Given the description of an element on the screen output the (x, y) to click on. 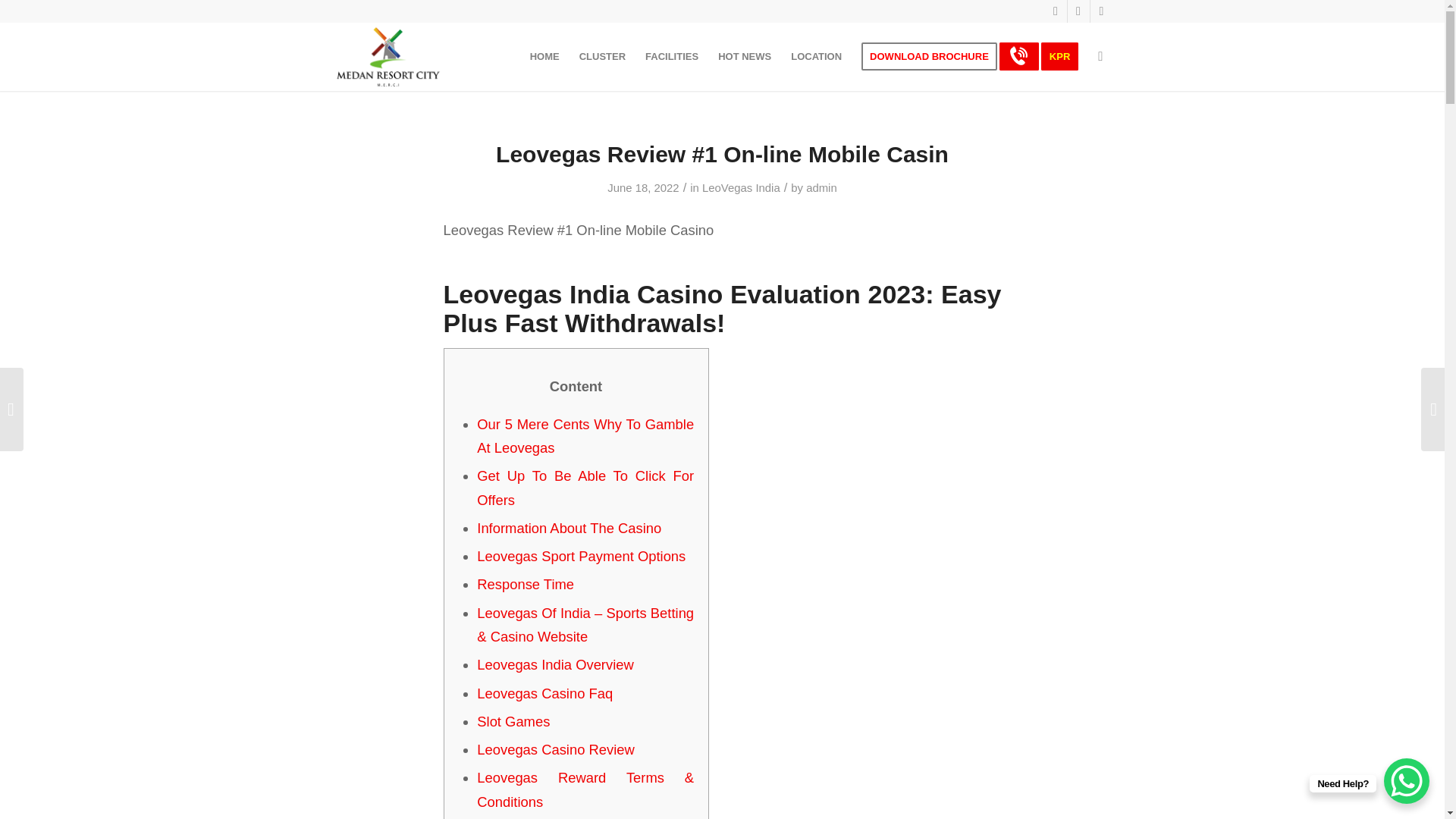
Response Time (525, 584)
Leovegas Casino Review (555, 749)
CLUSTER (601, 56)
Facebook (1056, 11)
Instagram (1078, 11)
LOCATION (815, 56)
DOWNLOAD BROCHURE (929, 56)
Leovegas Casino Faq (544, 693)
Information About The Casino (569, 528)
LeoVegas India (740, 187)
